Given the description of an element on the screen output the (x, y) to click on. 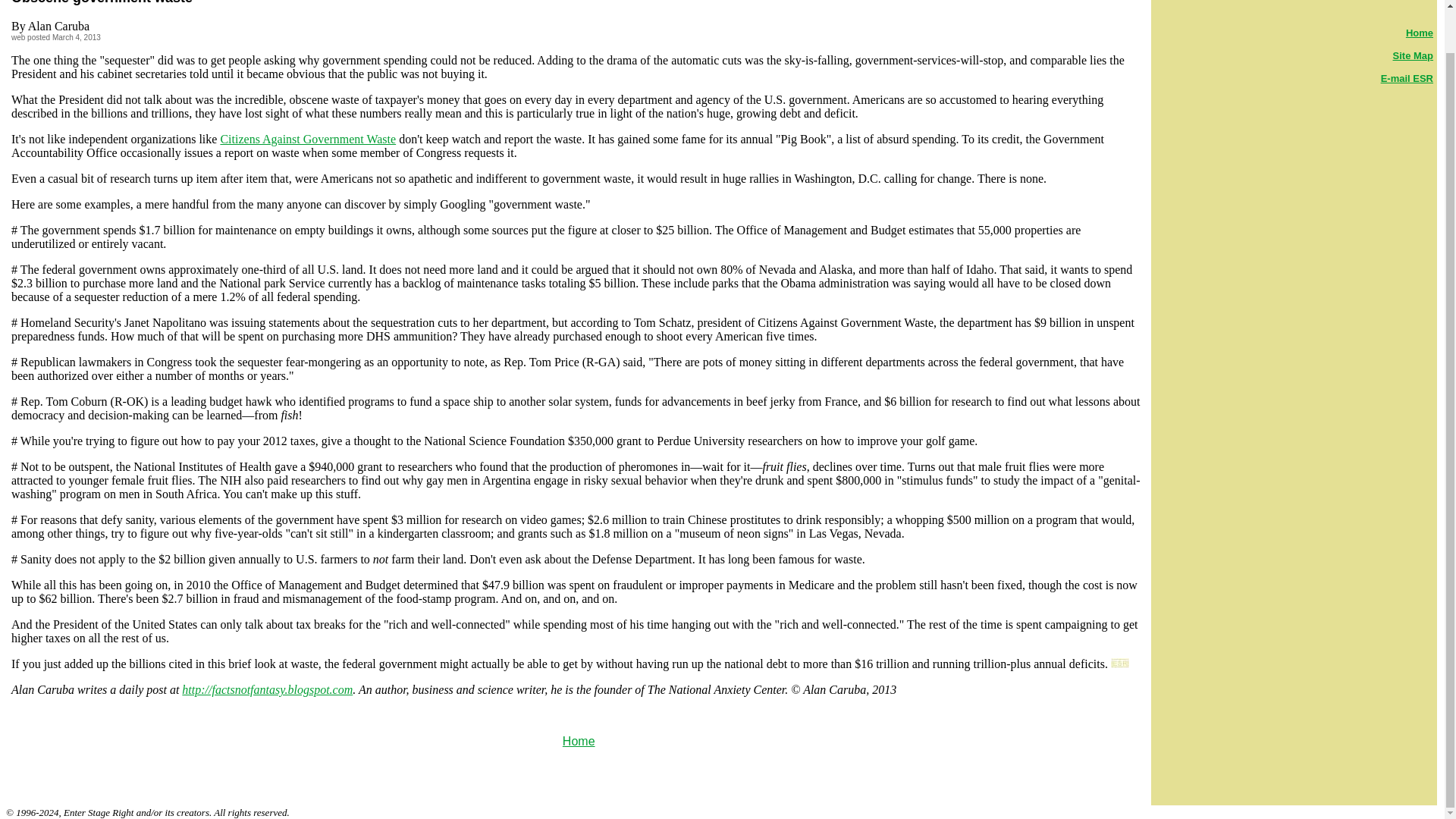
Citizens Against Government Waste (307, 138)
Home (578, 740)
Home (1419, 32)
Site Map (1412, 55)
E-mail ESR (1406, 78)
